Given the description of an element on the screen output the (x, y) to click on. 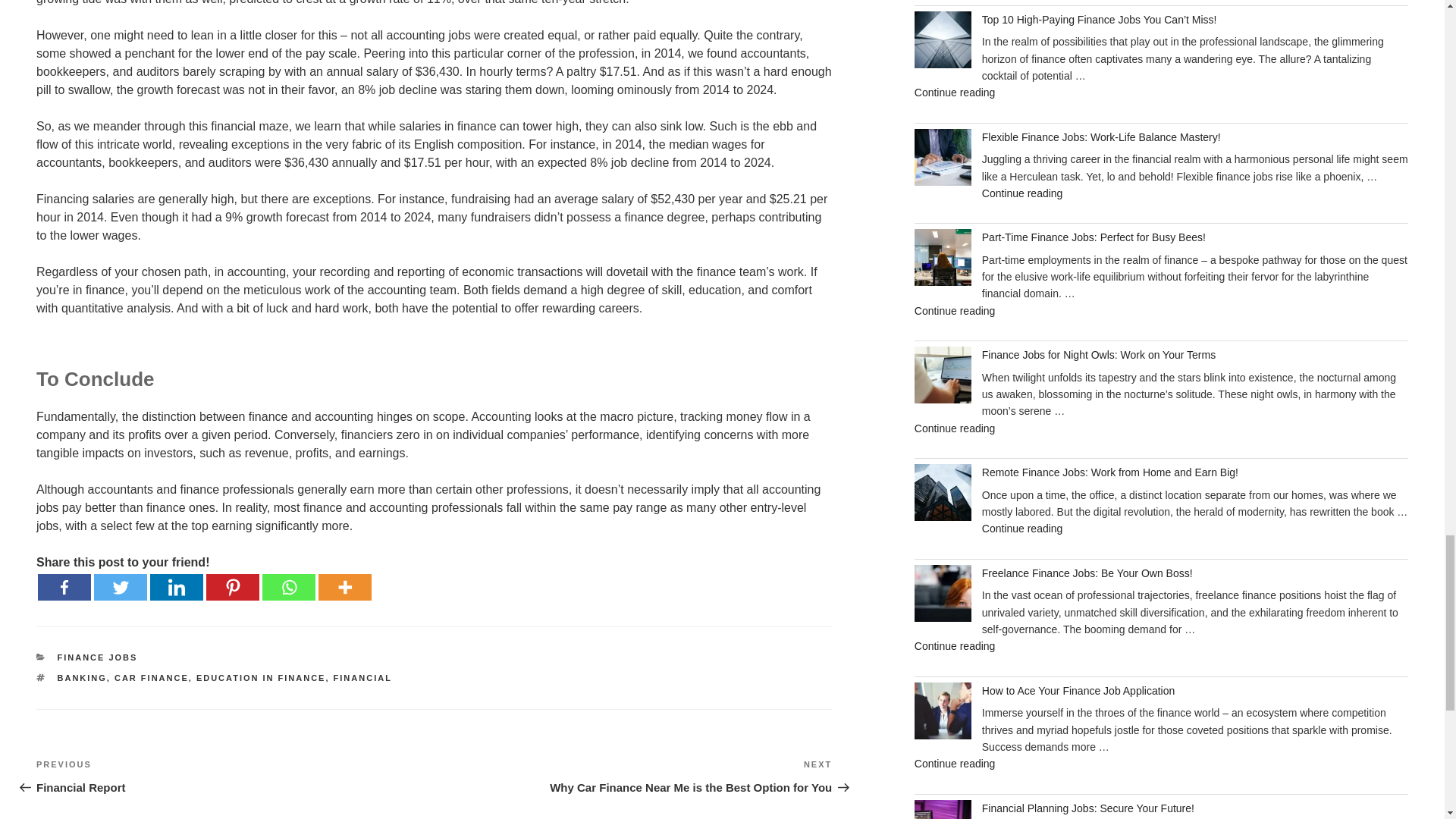
BANKING (82, 677)
FINANCE JOBS (98, 655)
Whatsapp (288, 586)
More (344, 586)
Pinterest (232, 586)
EDUCATION IN FINANCE (261, 677)
Twitter (120, 586)
Facebook (234, 776)
